Given the description of an element on the screen output the (x, y) to click on. 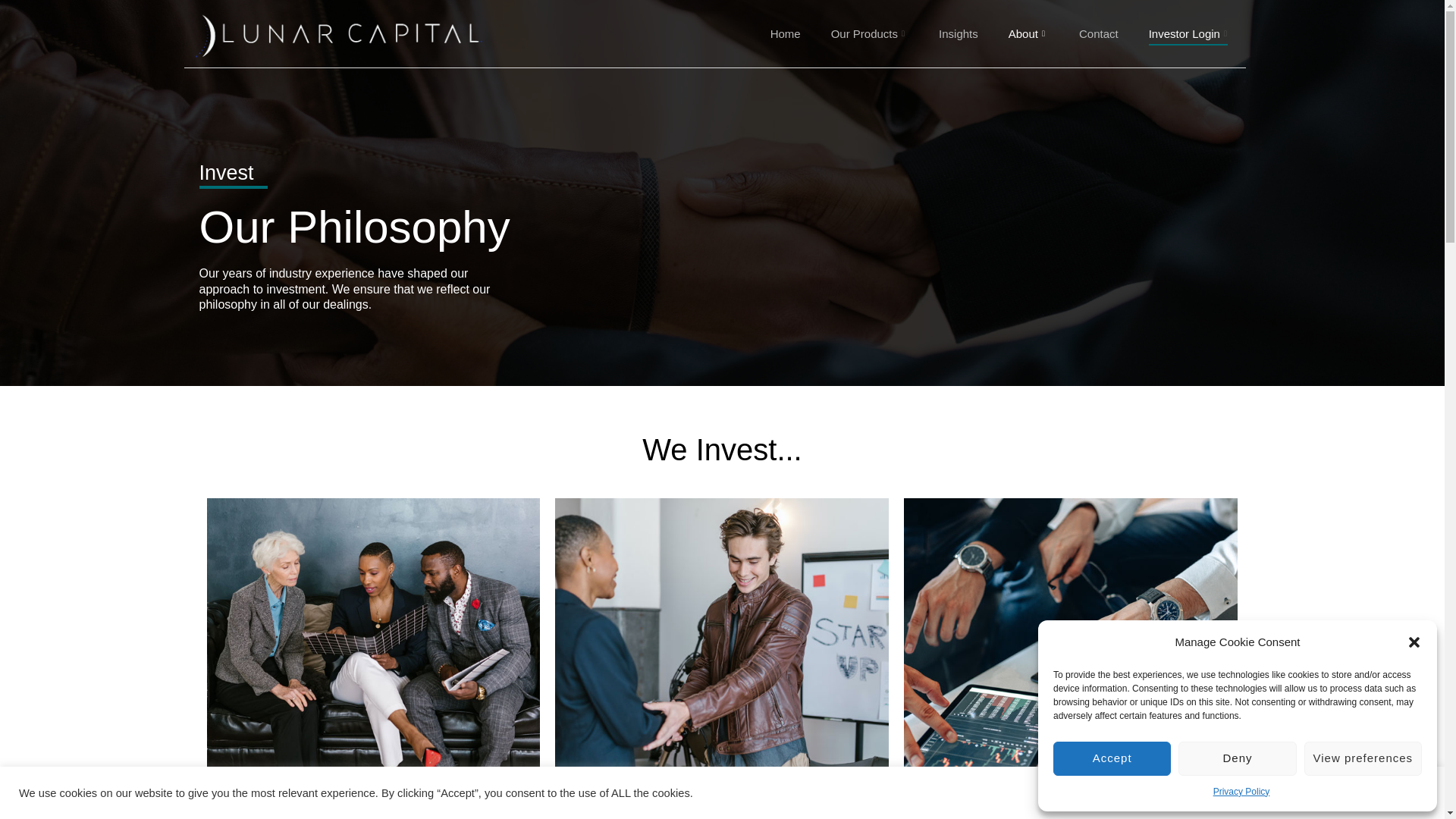
View preferences (1363, 758)
About (1028, 33)
Deny (1236, 758)
Investor Login (1190, 33)
Insights (957, 33)
Accept (1111, 758)
Privacy Policy (1240, 791)
Home (785, 33)
Our Products (869, 33)
Contact (1099, 33)
